Given the description of an element on the screen output the (x, y) to click on. 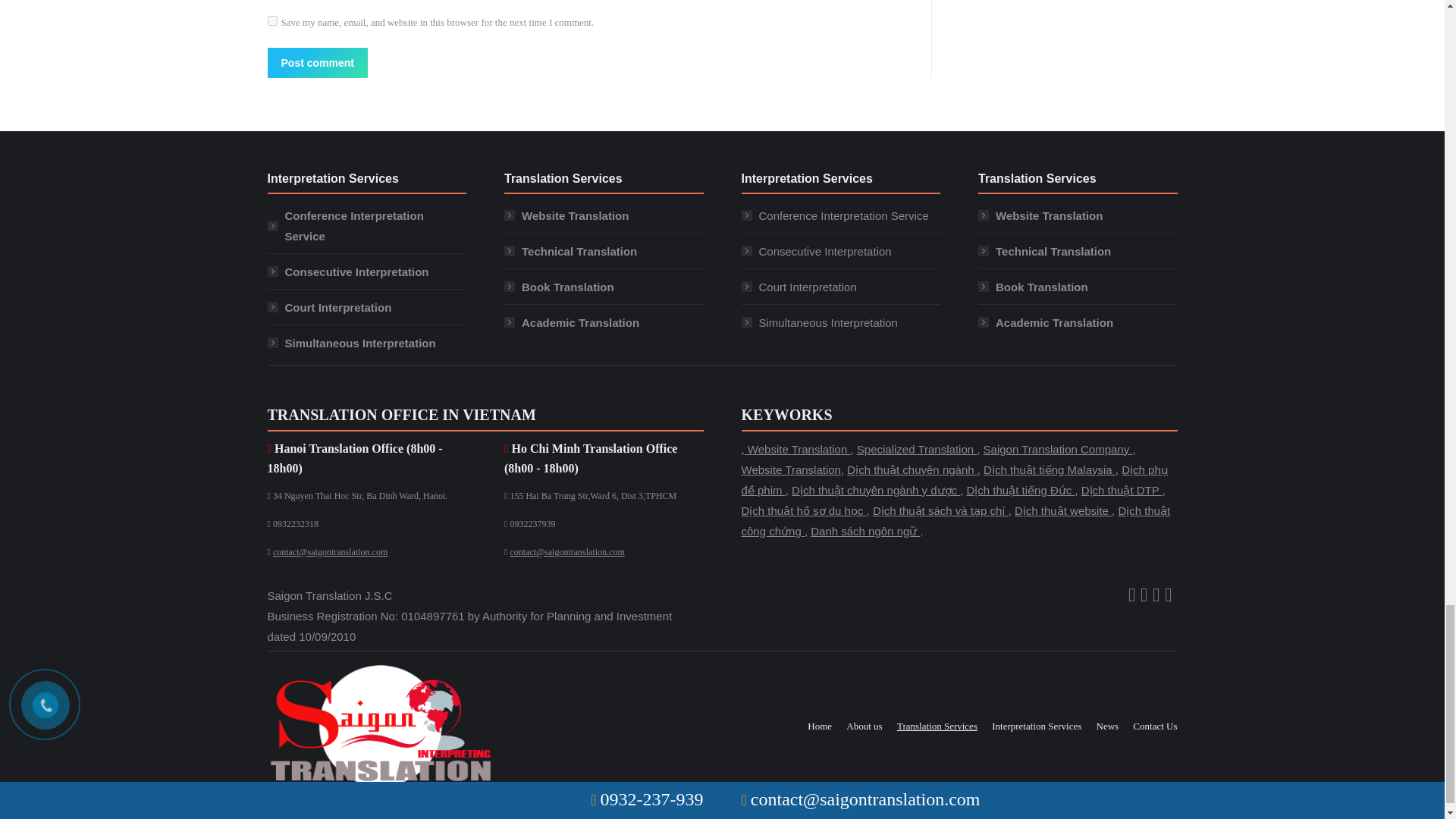
yes (271, 20)
